Given the description of an element on the screen output the (x, y) to click on. 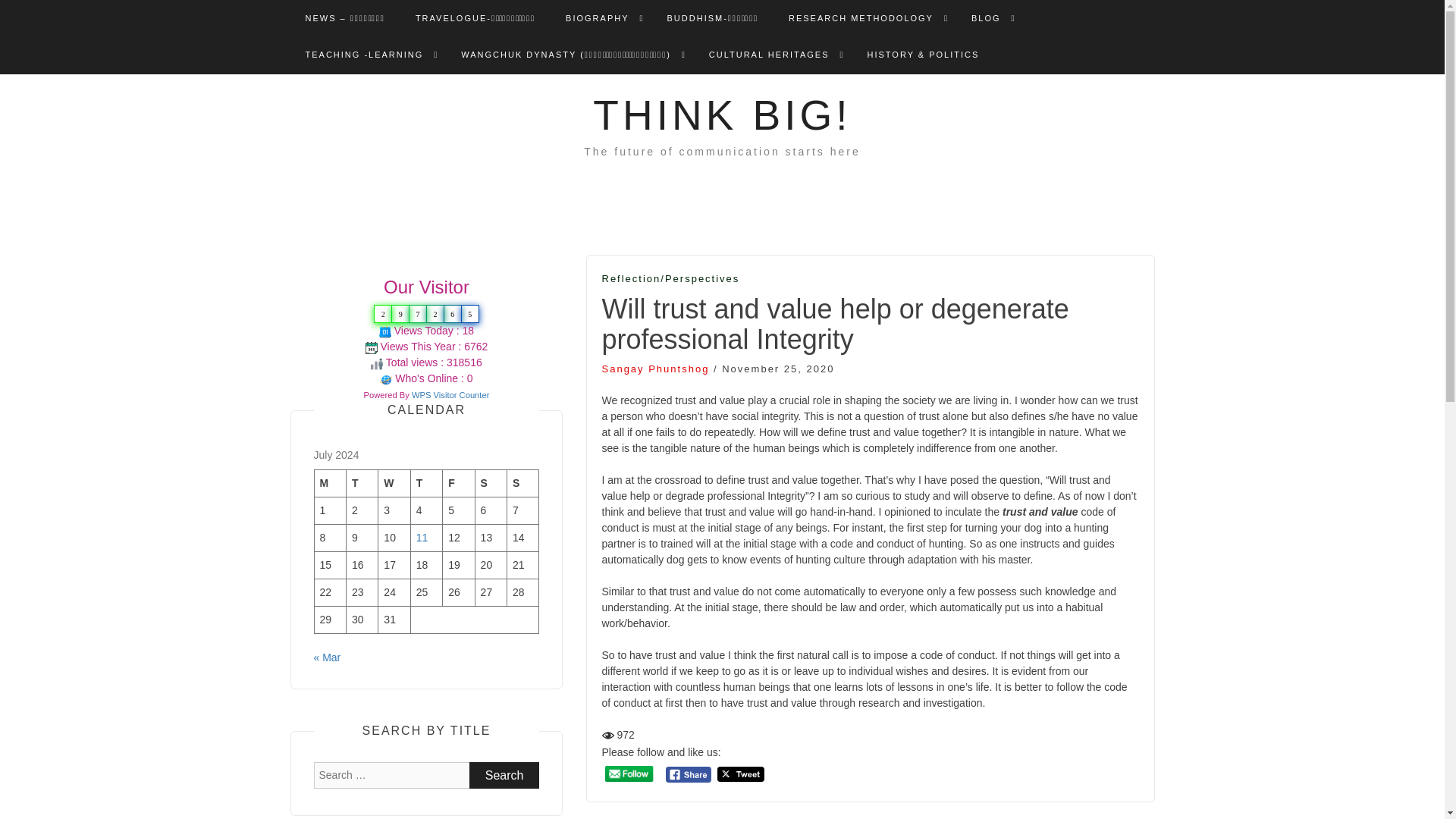
Sangay Phuntshog (656, 368)
THINK BIG! (721, 114)
BIOGRAPHY (597, 18)
Search (504, 775)
Monday (330, 483)
Facebook Share (688, 774)
Tweet (740, 774)
Thursday (426, 483)
Sunday (522, 483)
RESEARCH METHODOLOGY (861, 18)
WPS Visitor Counter (450, 394)
CULTURAL HERITAGES (769, 54)
Tuesday (361, 483)
TEACHING -LEARNING (363, 54)
Saturday (490, 483)
